Given the description of an element on the screen output the (x, y) to click on. 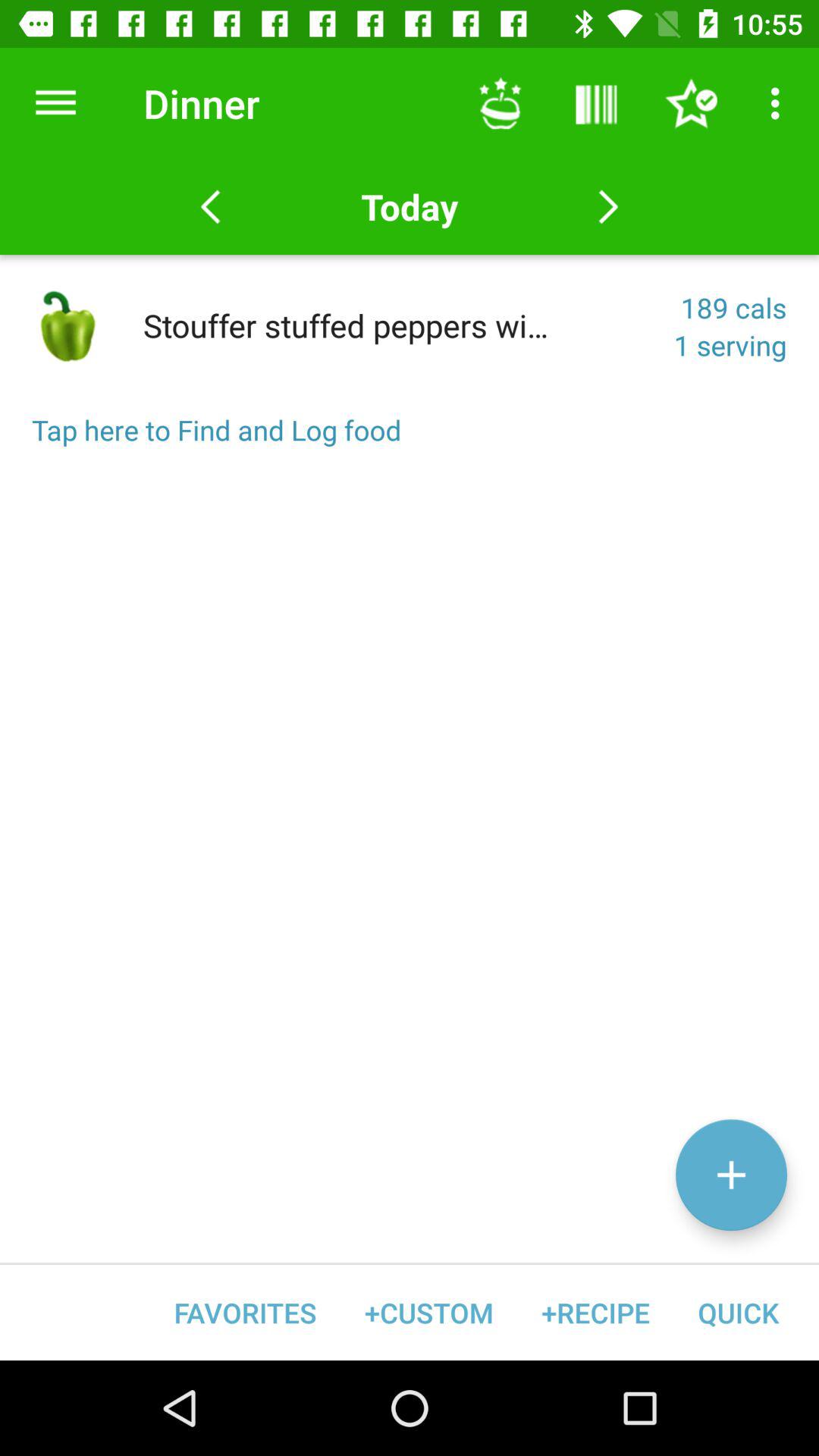
open item next to favorites (428, 1312)
